Given the description of an element on the screen output the (x, y) to click on. 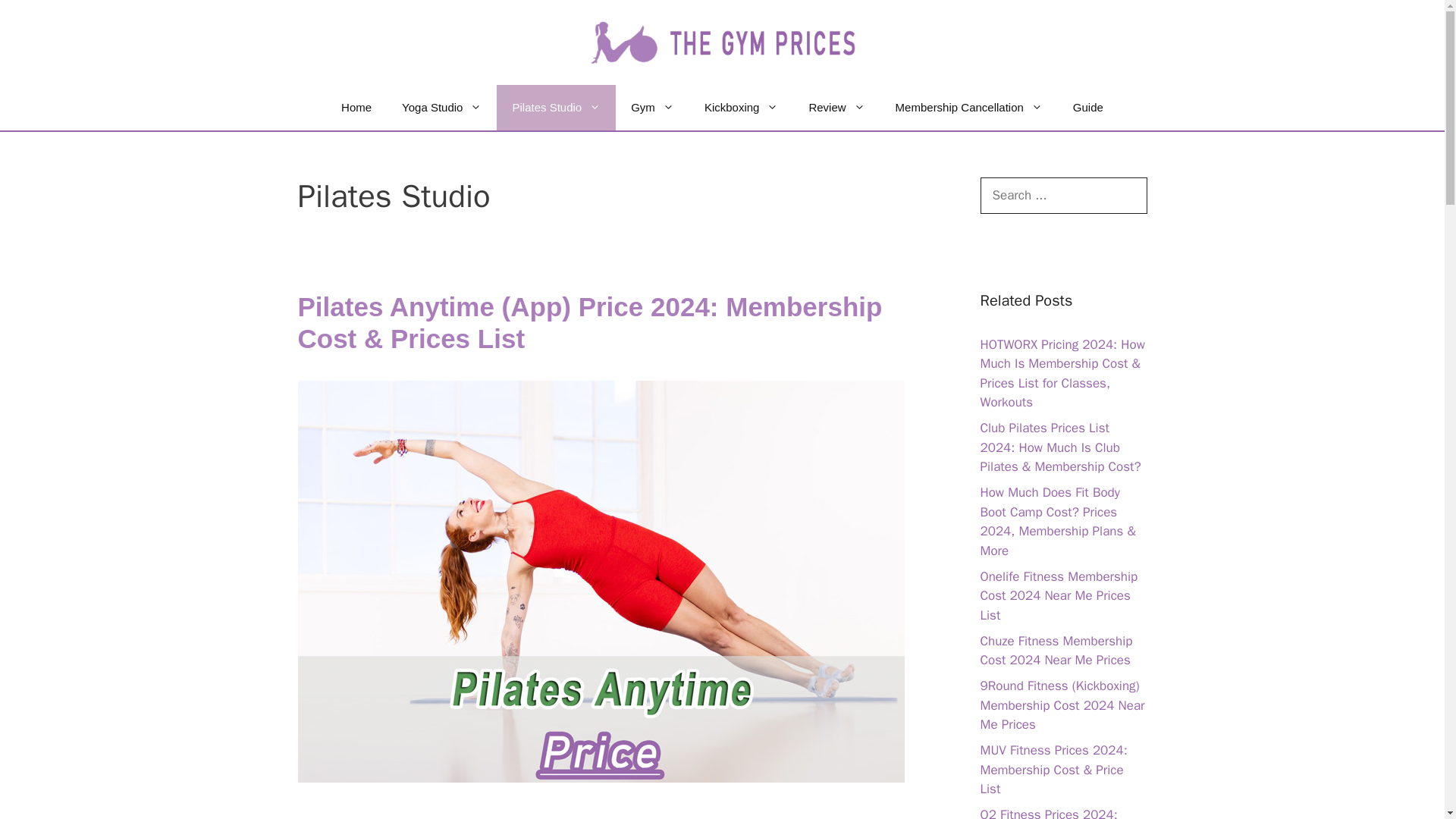
Yoga Studio (441, 107)
Home (356, 107)
Gym (651, 107)
Pilates Studio (555, 107)
